Given the description of an element on the screen output the (x, y) to click on. 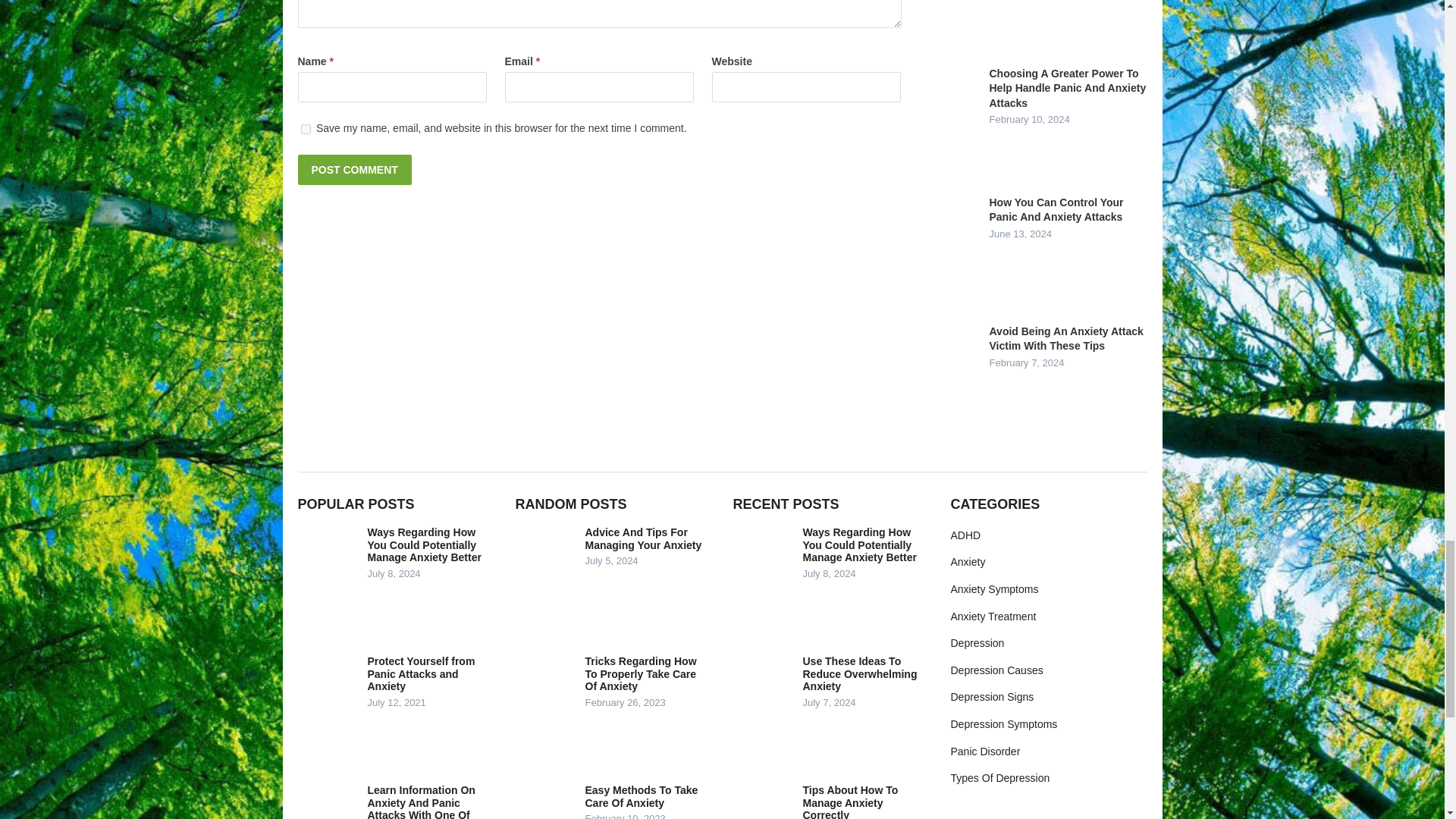
Post Comment (353, 169)
yes (304, 129)
